Given the description of an element on the screen output the (x, y) to click on. 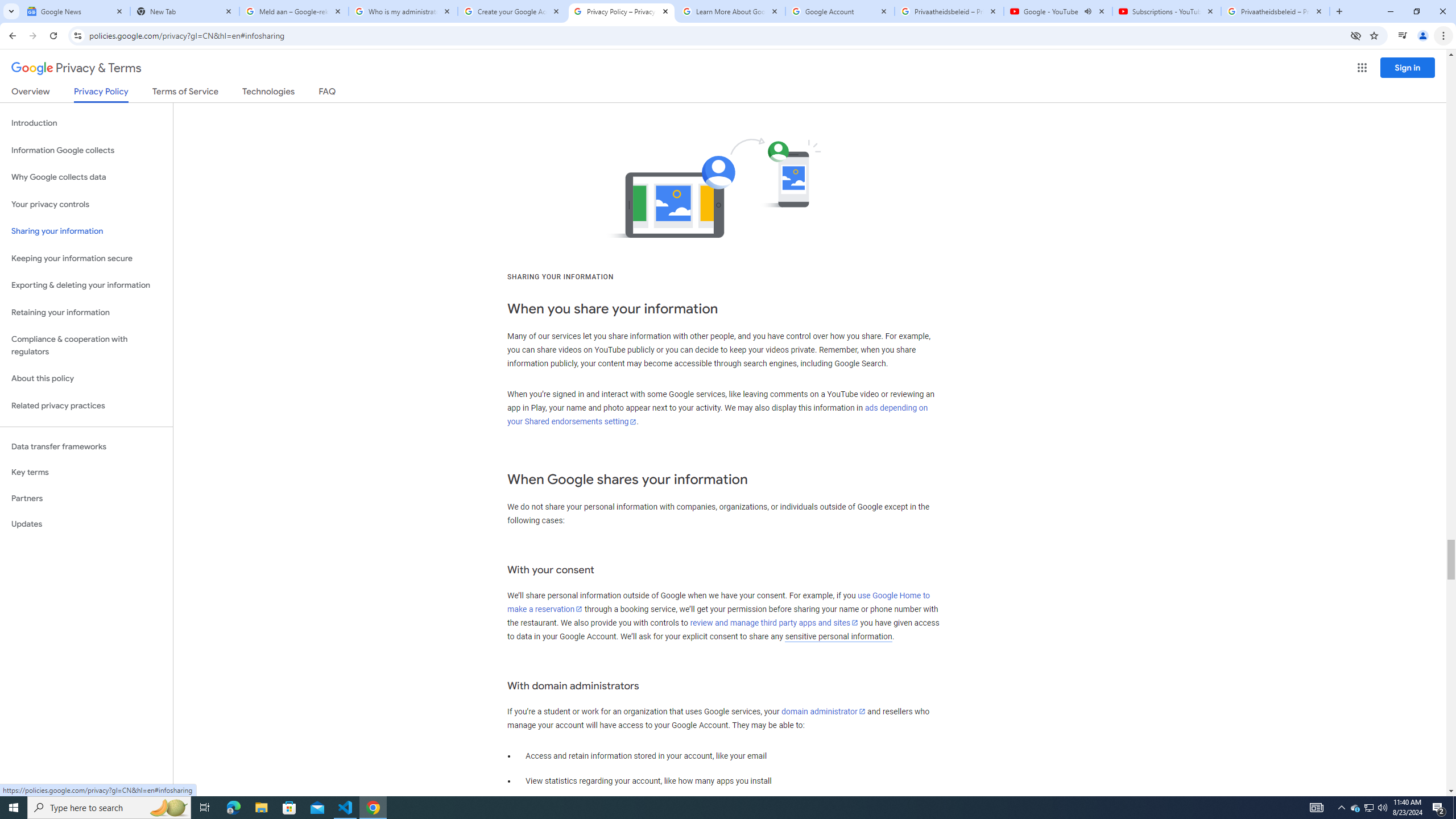
sensitive personal information (838, 636)
Subscriptions - YouTube (1166, 11)
Your privacy controls (86, 204)
review and manage third party apps and sites (774, 622)
Why Google collects data (86, 176)
